Given the description of an element on the screen output the (x, y) to click on. 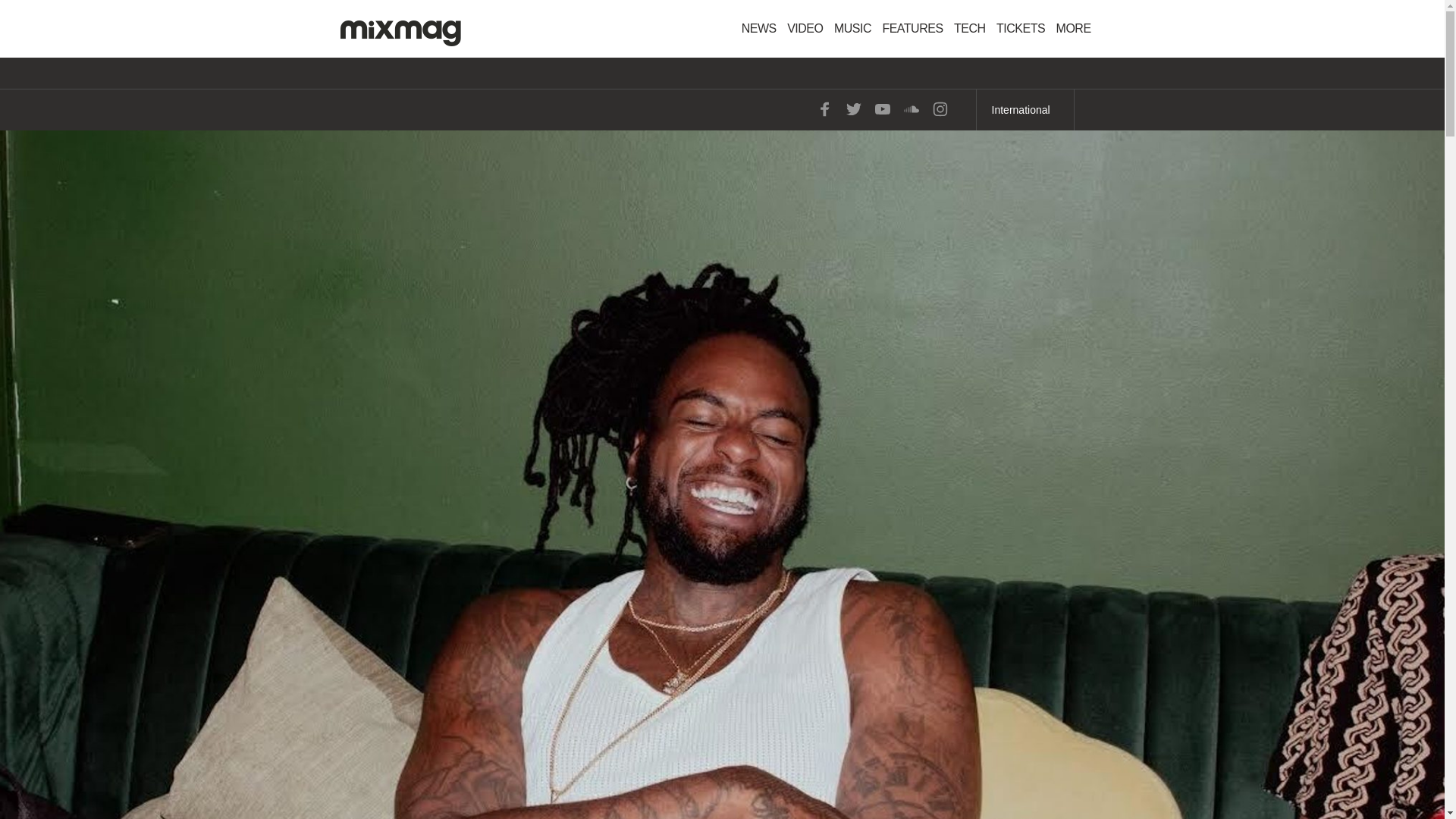
FEATURES (911, 28)
MORE (1078, 28)
TICKETS (1020, 28)
